Given the description of an element on the screen output the (x, y) to click on. 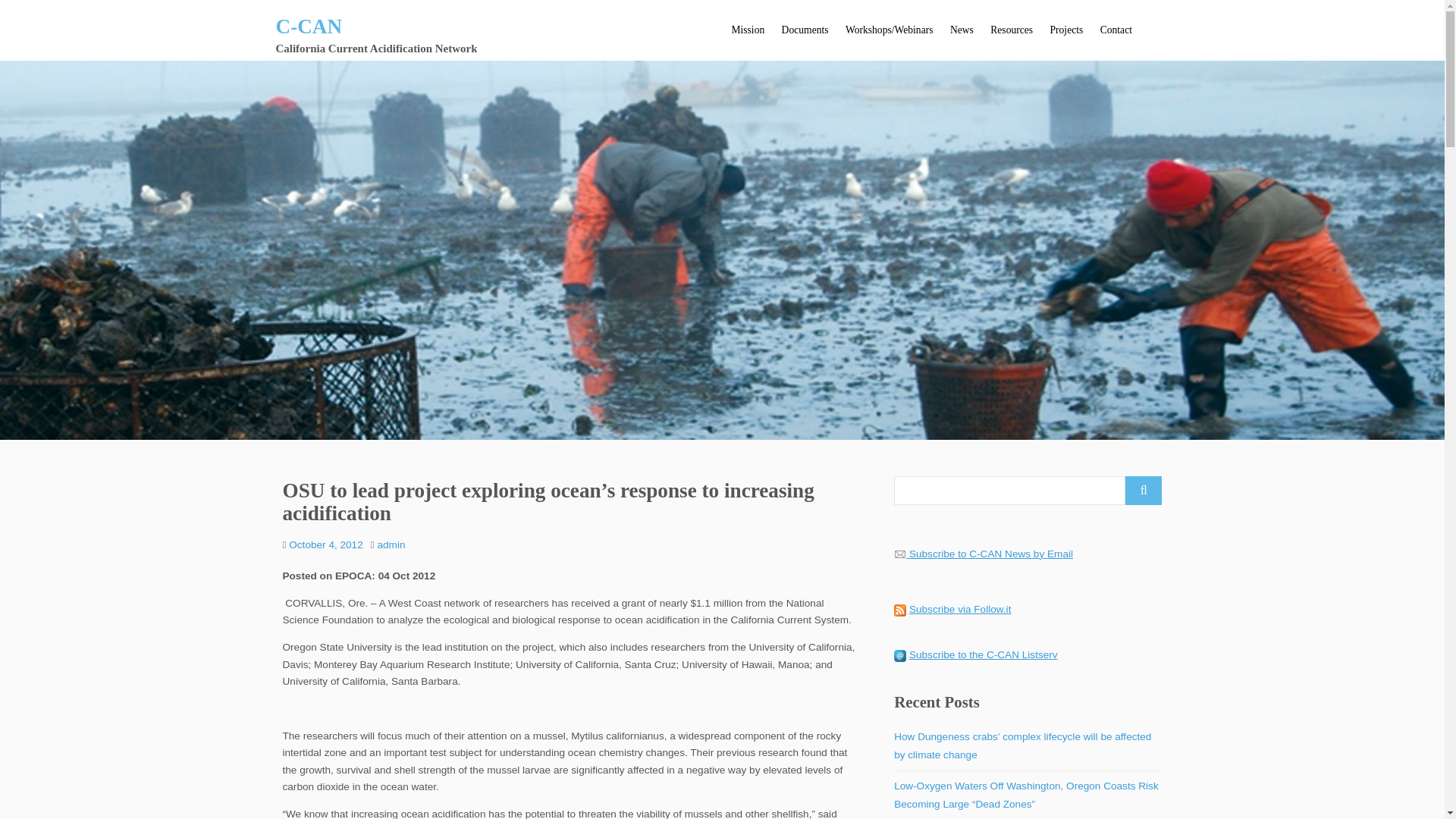
Documents (804, 30)
Subscribe to C-CAN News by Email (990, 553)
Subscribe to the C-CAN Listserv (983, 654)
October 4, 2012 (325, 544)
Search (1143, 490)
C-CAN (309, 26)
admin (391, 544)
C-CAN (309, 26)
Resources (1011, 30)
Subscribe via Follow.it (959, 609)
